Given the description of an element on the screen output the (x, y) to click on. 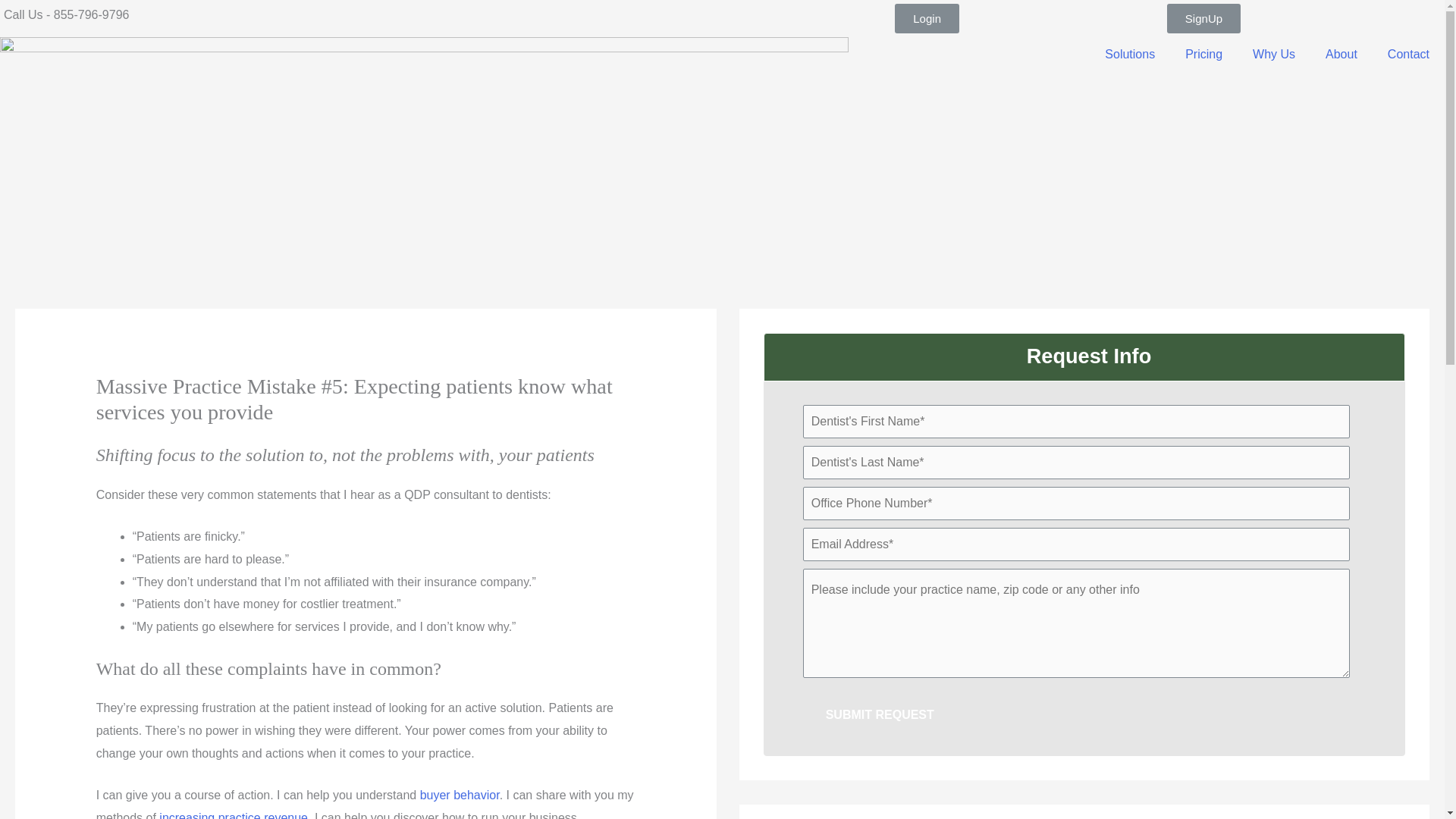
About (1341, 54)
increasing practice revenue (232, 815)
buyer behavior (459, 794)
Pricing (1203, 54)
Login (927, 18)
Why Us (1273, 54)
SignUp (1203, 18)
Submit Request (879, 715)
Solutions (1129, 54)
Call Us - 855-796-9796 (66, 14)
